Given the description of an element on the screen output the (x, y) to click on. 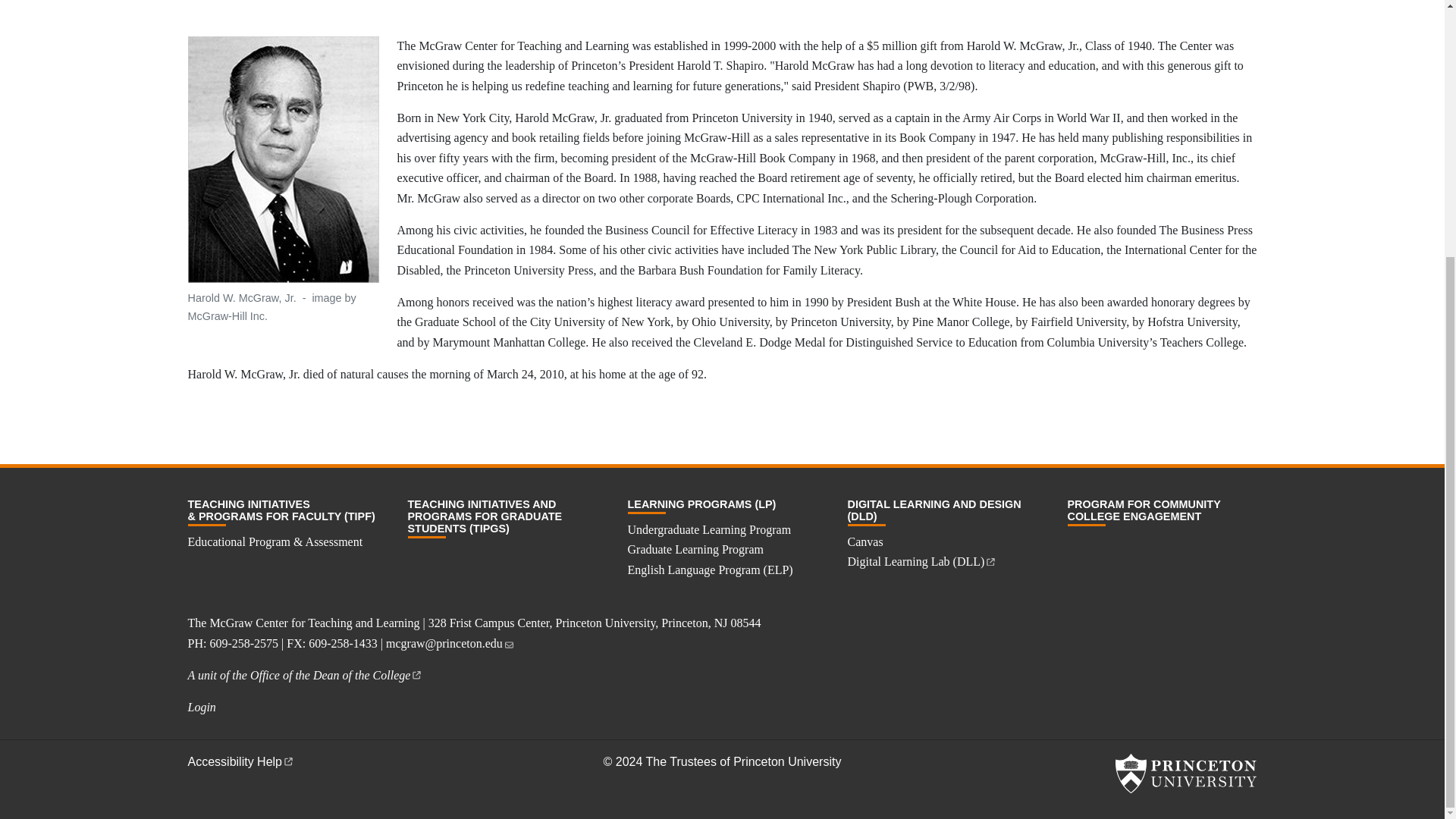
Princeton University (1185, 773)
Link is external (287, 759)
Link is external (416, 673)
Link sends email (509, 642)
Link is external (990, 560)
